Given the description of an element on the screen output the (x, y) to click on. 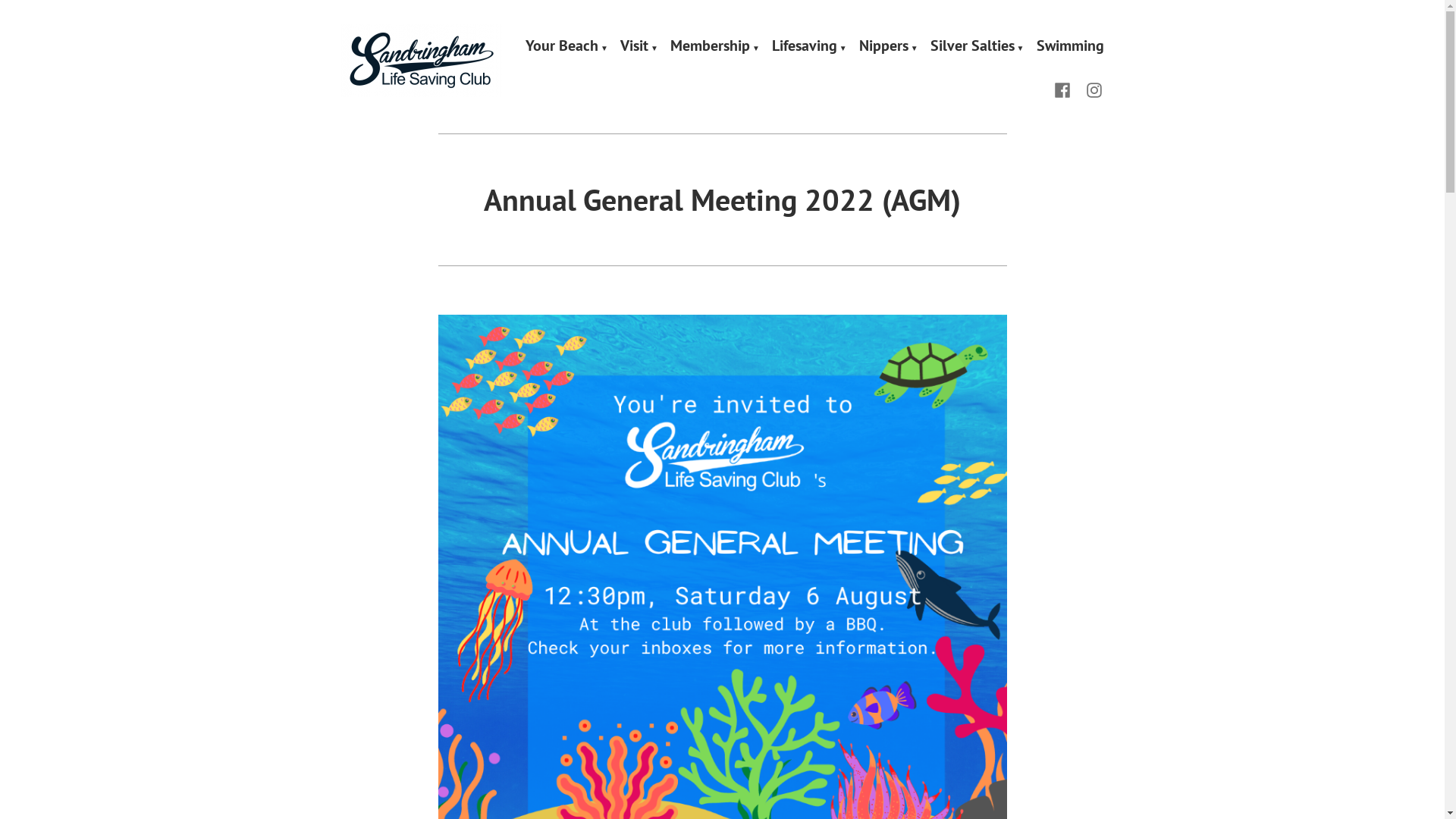
Membership Element type: text (714, 46)
Sandringham Lifesaving Club Element type: text (506, 95)
Swimming Element type: text (1069, 46)
Nippers Element type: text (888, 46)
Your Beach Element type: text (566, 46)
Instagram Element type: text (1091, 87)
Visit Element type: text (639, 46)
Lifesaving Element type: text (809, 46)
Facebook Element type: text (1065, 87)
Silver Salties Element type: text (977, 46)
